Given the description of an element on the screen output the (x, y) to click on. 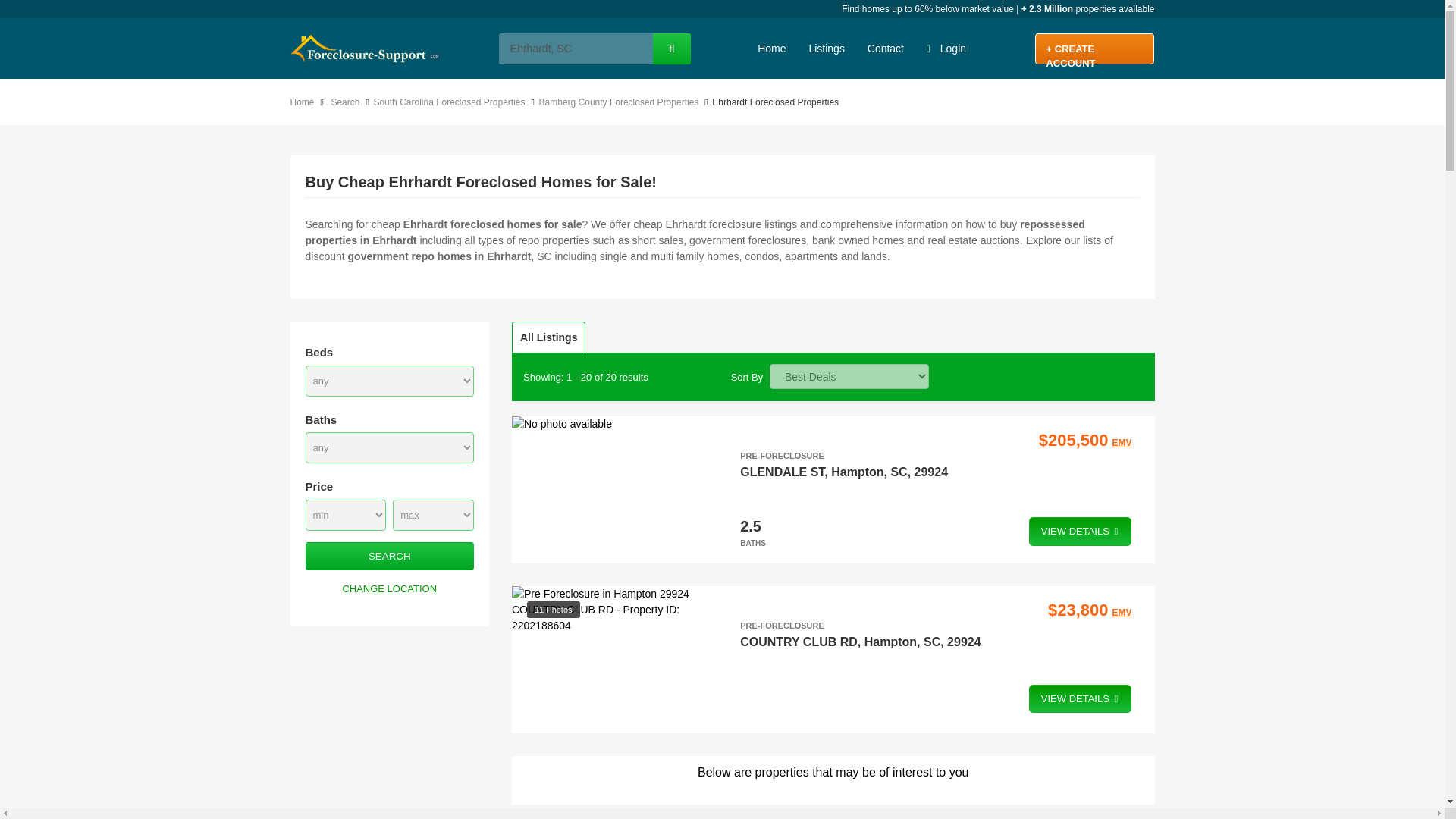
Listings (825, 48)
VIEW DETAILS (1080, 531)
All Listings (548, 336)
SEARCH (389, 555)
Home (304, 102)
VIEW DETAILS (1080, 697)
Contact (885, 48)
CHANGE LOCATION (389, 588)
11 Photos (614, 609)
Login (946, 48)
